Given the description of an element on the screen output the (x, y) to click on. 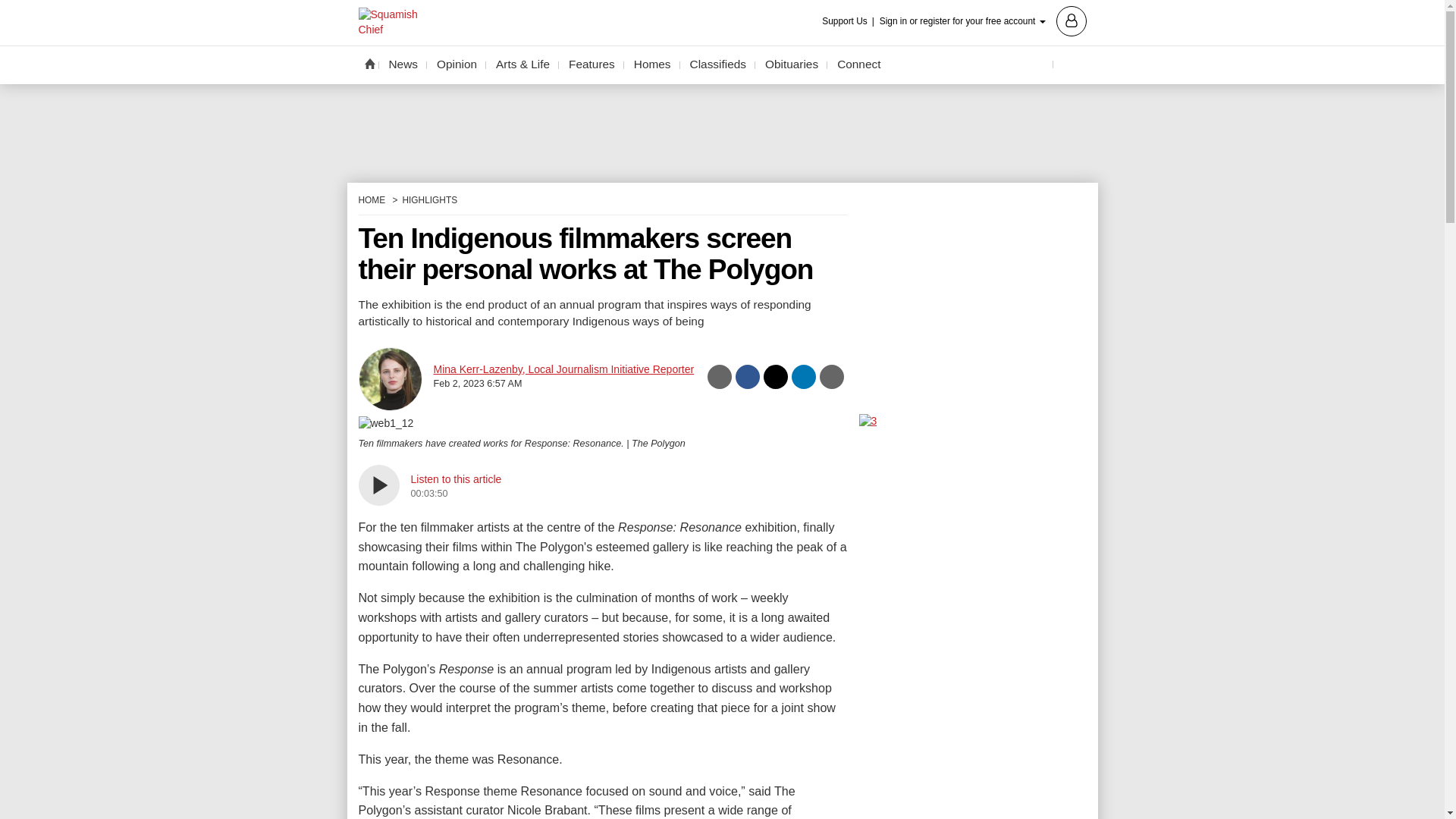
Sign in or register for your free account (982, 20)
Support Us (849, 21)
Opinion (456, 64)
News (403, 64)
Home (368, 63)
